Given the description of an element on the screen output the (x, y) to click on. 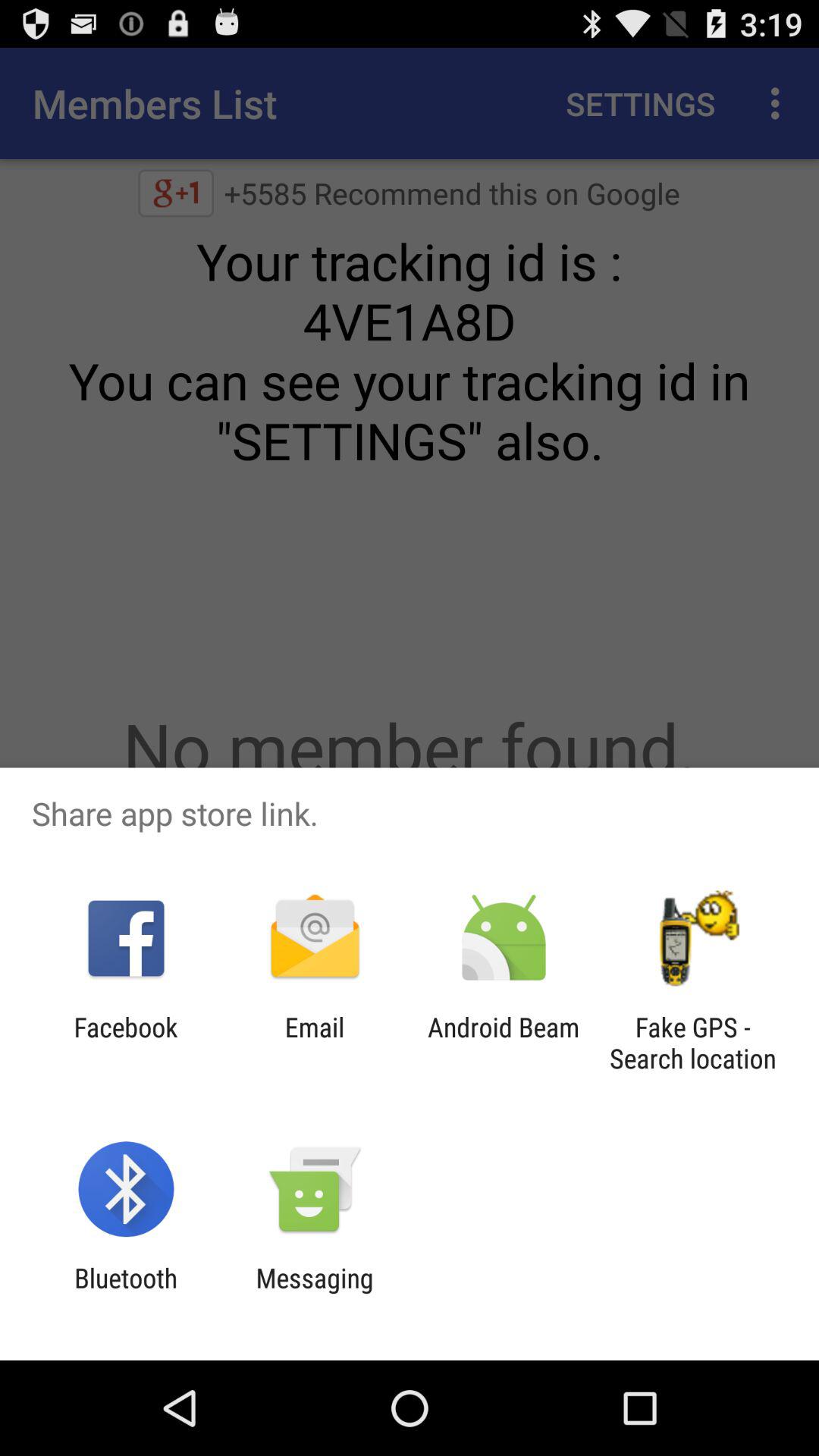
turn on bluetooth (125, 1293)
